Given the description of an element on the screen output the (x, y) to click on. 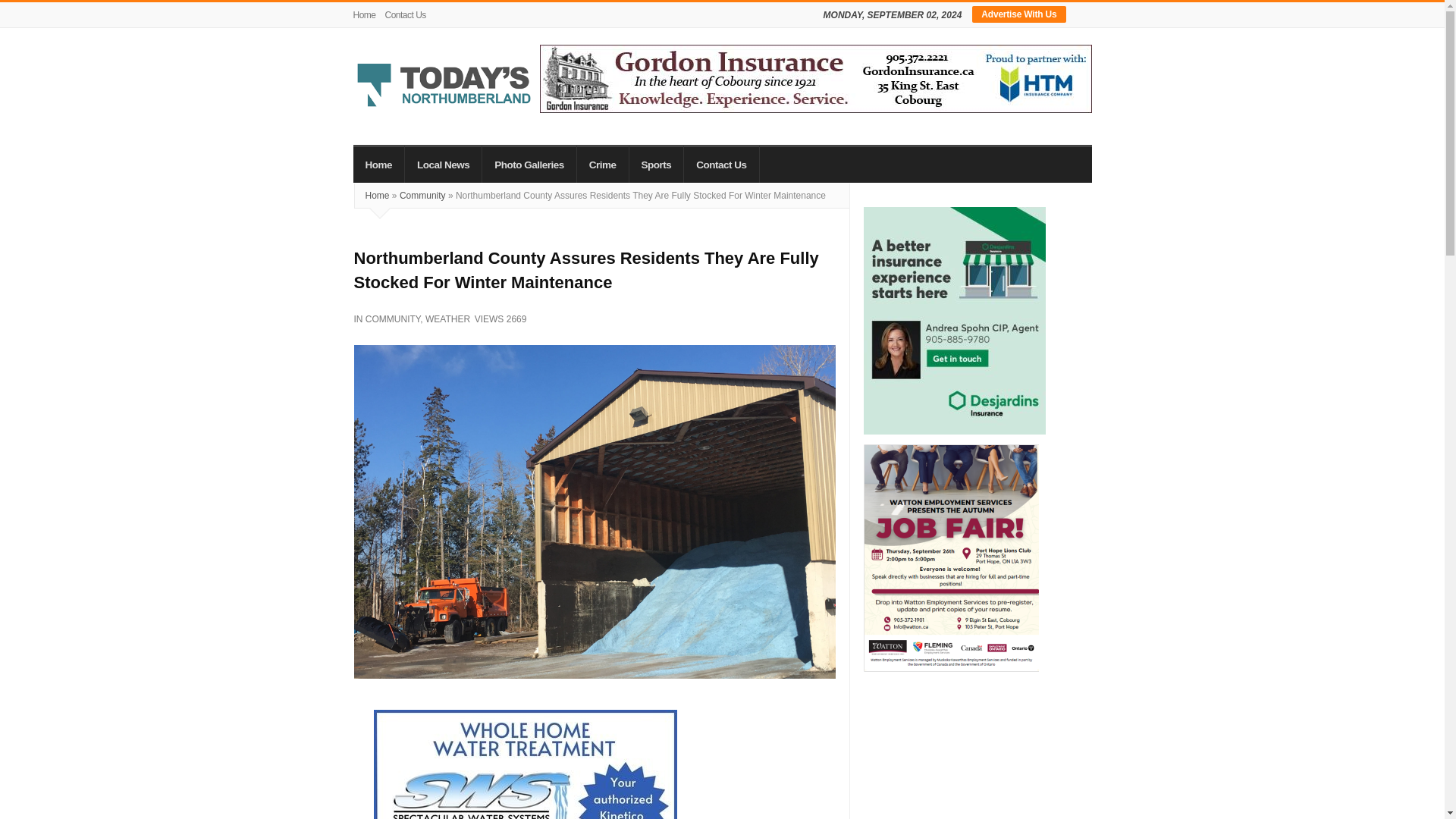
Advertise With Us (1018, 13)
Home (366, 14)
Photo Galleries (528, 163)
Contact Us (405, 14)
Home (379, 163)
Local News (442, 163)
